Given the description of an element on the screen output the (x, y) to click on. 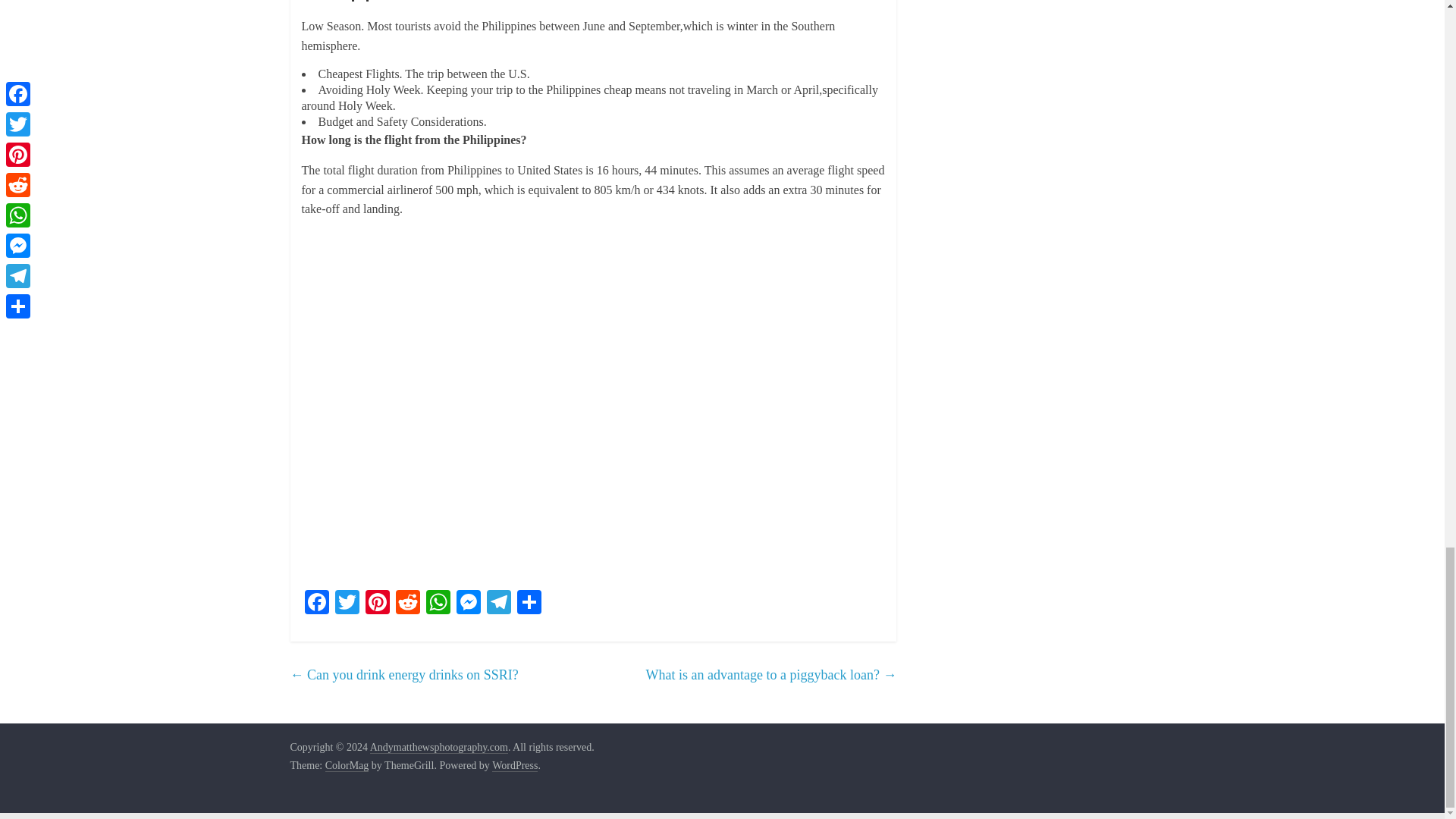
Telegram (498, 603)
Reddit (408, 603)
Facebook (316, 603)
WhatsApp (437, 603)
Pinterest (377, 603)
Twitter (346, 603)
Facebook (316, 603)
Pinterest (377, 603)
Twitter (346, 603)
Share (528, 603)
Messenger (467, 603)
